Given the description of an element on the screen output the (x, y) to click on. 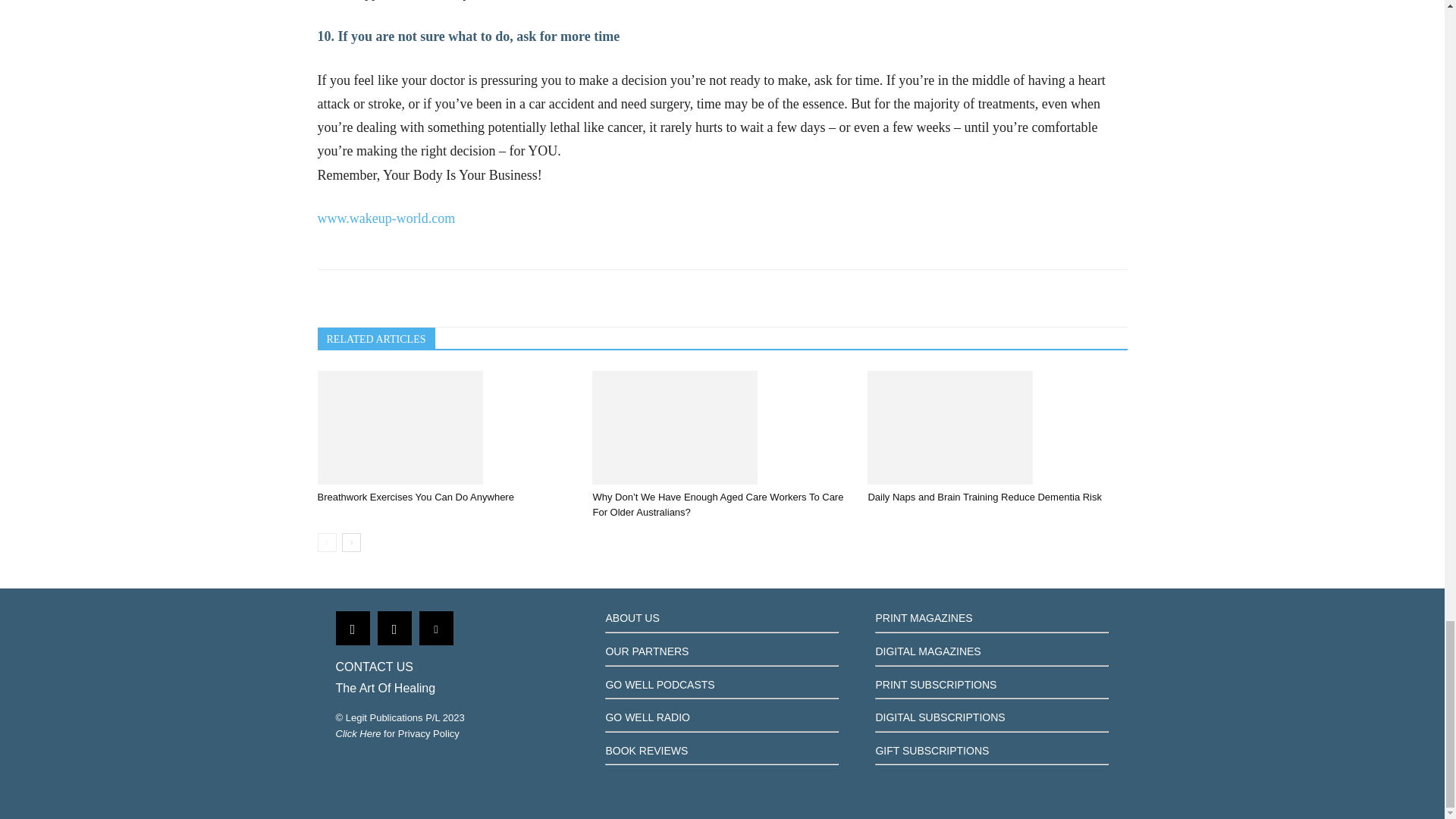
Breathwork Exercises  You Can Do Anywhere (446, 427)
